Given the description of an element on the screen output the (x, y) to click on. 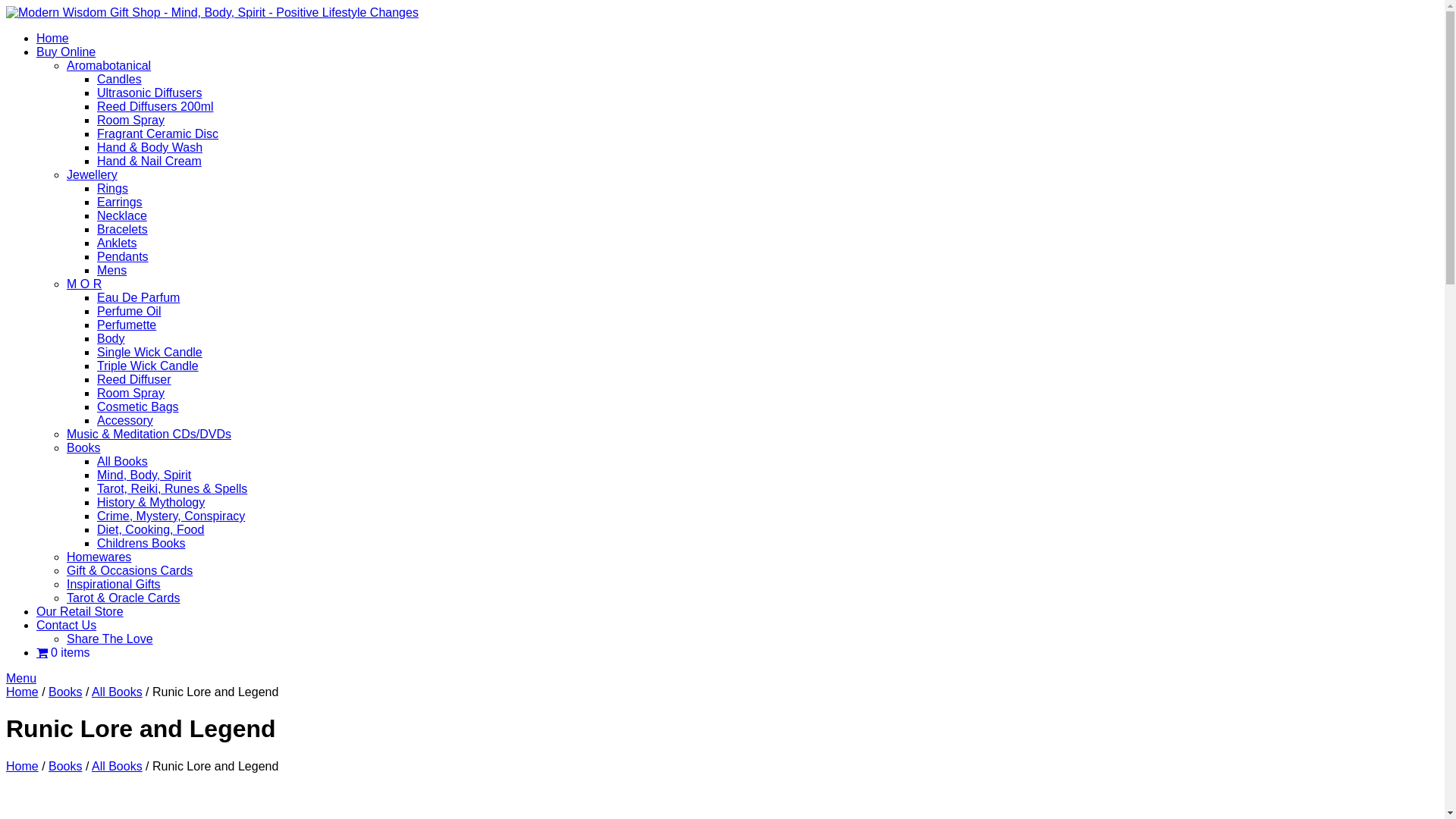
Triple Wick Candle Element type: text (147, 365)
Crime, Mystery, Conspiracy Element type: text (170, 515)
All Books Element type: text (116, 765)
Fragrant Ceramic Disc Element type: text (157, 133)
Earrings Element type: text (119, 201)
Candles Element type: text (119, 78)
Single Wick Candle Element type: text (149, 351)
Necklace Element type: text (122, 215)
Body Element type: text (110, 338)
Reed Diffuser Element type: text (134, 379)
M O R Element type: text (83, 283)
Cosmetic Bags Element type: text (137, 406)
History & Mythology Element type: text (150, 501)
Reed Diffusers 200ml Element type: text (155, 106)
Diet, Cooking, Food Element type: text (150, 529)
Music & Meditation CDs/DVDs Element type: text (148, 433)
Perfume Oil Element type: text (128, 310)
Accessory Element type: text (125, 420)
Books Element type: text (64, 691)
All Books Element type: text (122, 461)
Ultrasonic Diffusers Element type: text (149, 92)
Aromabotanical Element type: text (108, 65)
Our Retail Store Element type: text (79, 611)
Mind, Body, Spirit Element type: text (144, 474)
Bracelets Element type: text (122, 228)
Home Element type: text (22, 765)
Room Spray Element type: text (130, 119)
Home Element type: text (52, 37)
Pendants Element type: text (122, 256)
Tarot & Oracle Cards Element type: text (122, 597)
All Books Element type: text (116, 691)
Jewellery Element type: text (91, 174)
Eau De Parfum Element type: text (138, 297)
Hand & Nail Cream Element type: text (149, 160)
Inspirational Gifts Element type: text (113, 583)
Share The Love Element type: text (109, 638)
Childrens Books Element type: text (141, 542)
Gift & Occasions Cards Element type: text (129, 570)
Books Element type: text (64, 765)
Contact Us Element type: text (66, 624)
Room Spray Element type: text (130, 392)
Hand & Body Wash Element type: text (149, 147)
Menu Element type: text (21, 677)
Perfumette Element type: text (126, 324)
Mens Element type: text (111, 269)
Rings Element type: text (112, 188)
Tarot, Reiki, Runes & Spells Element type: text (172, 488)
0 items Element type: text (63, 652)
Buy Online Element type: text (65, 51)
Home Element type: text (22, 691)
Books Element type: text (83, 447)
Anklets Element type: text (116, 242)
Homewares Element type: text (98, 556)
